Given the description of an element on the screen output the (x, y) to click on. 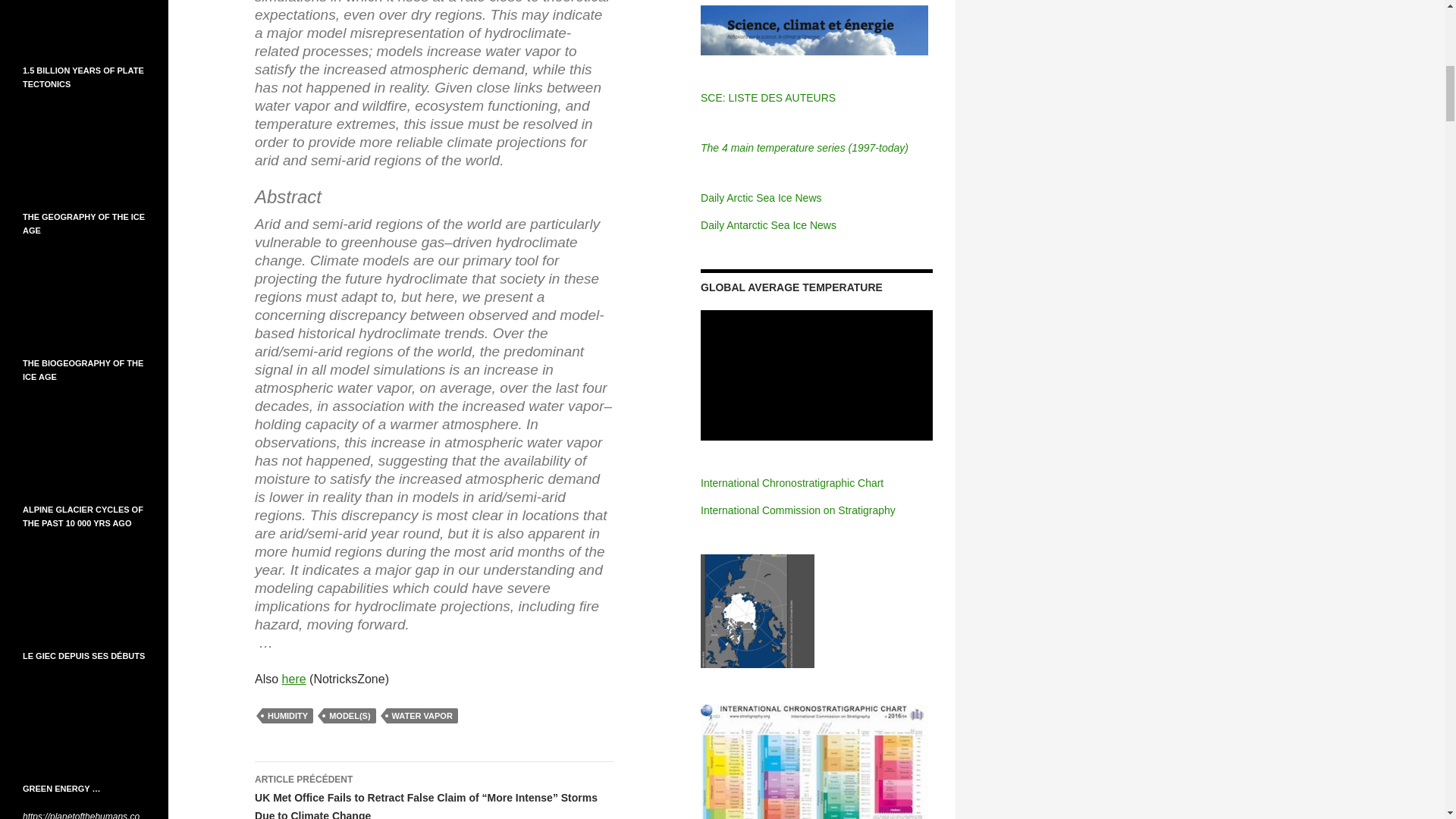
HUMIDITY (287, 715)
WATER VAPOR (422, 715)
here (293, 678)
